Given the description of an element on the screen output the (x, y) to click on. 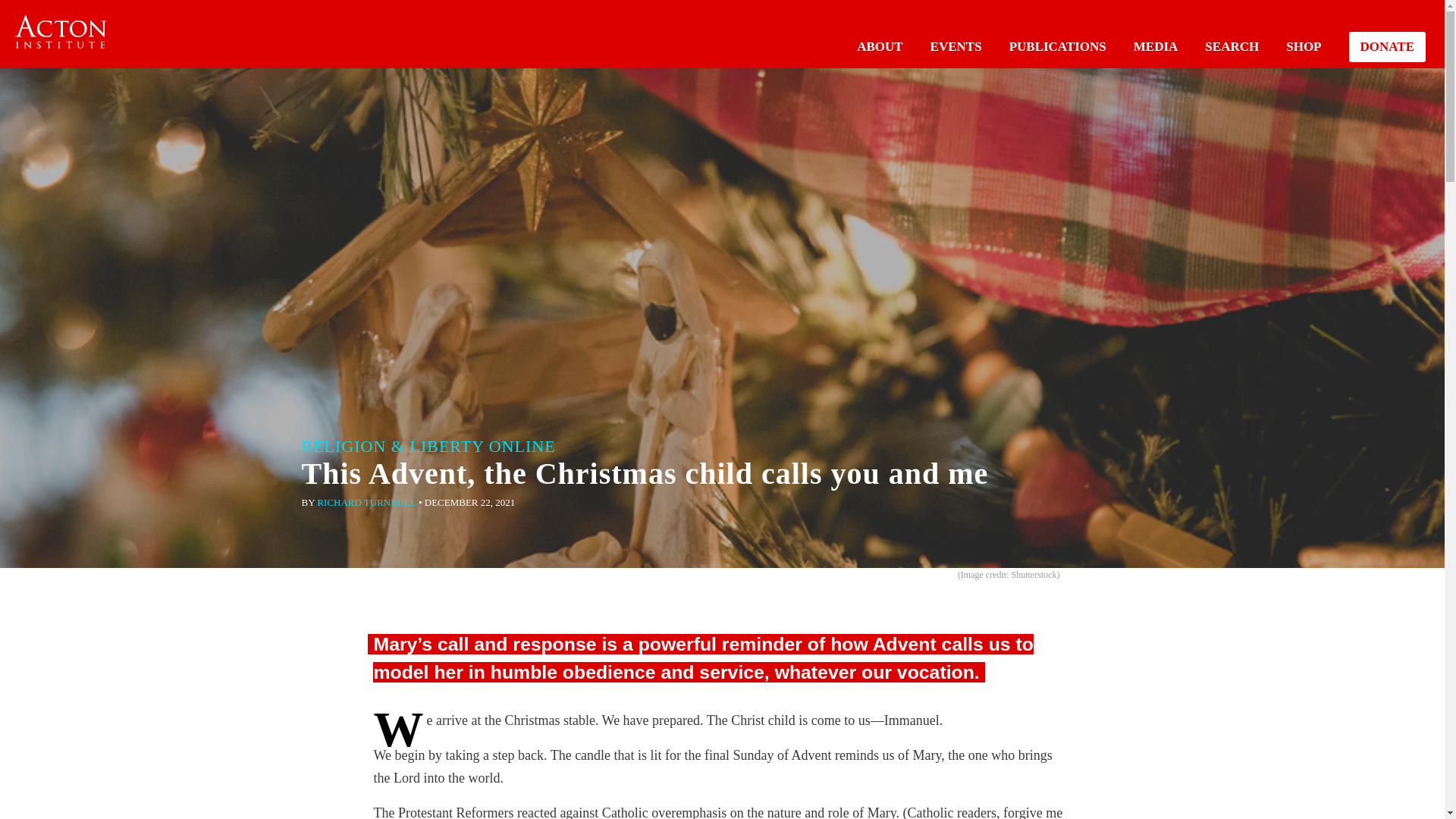
Posts by Richard Turnbull (365, 501)
The Acton Institute (60, 31)
RICHARD TURNBULL (365, 501)
PUBLICATIONS (1057, 46)
SEARCH (1232, 46)
SHOP (1302, 46)
ABOUT (879, 46)
DONATE (1387, 46)
MEDIA (1155, 46)
EVENTS (955, 46)
